Given the description of an element on the screen output the (x, y) to click on. 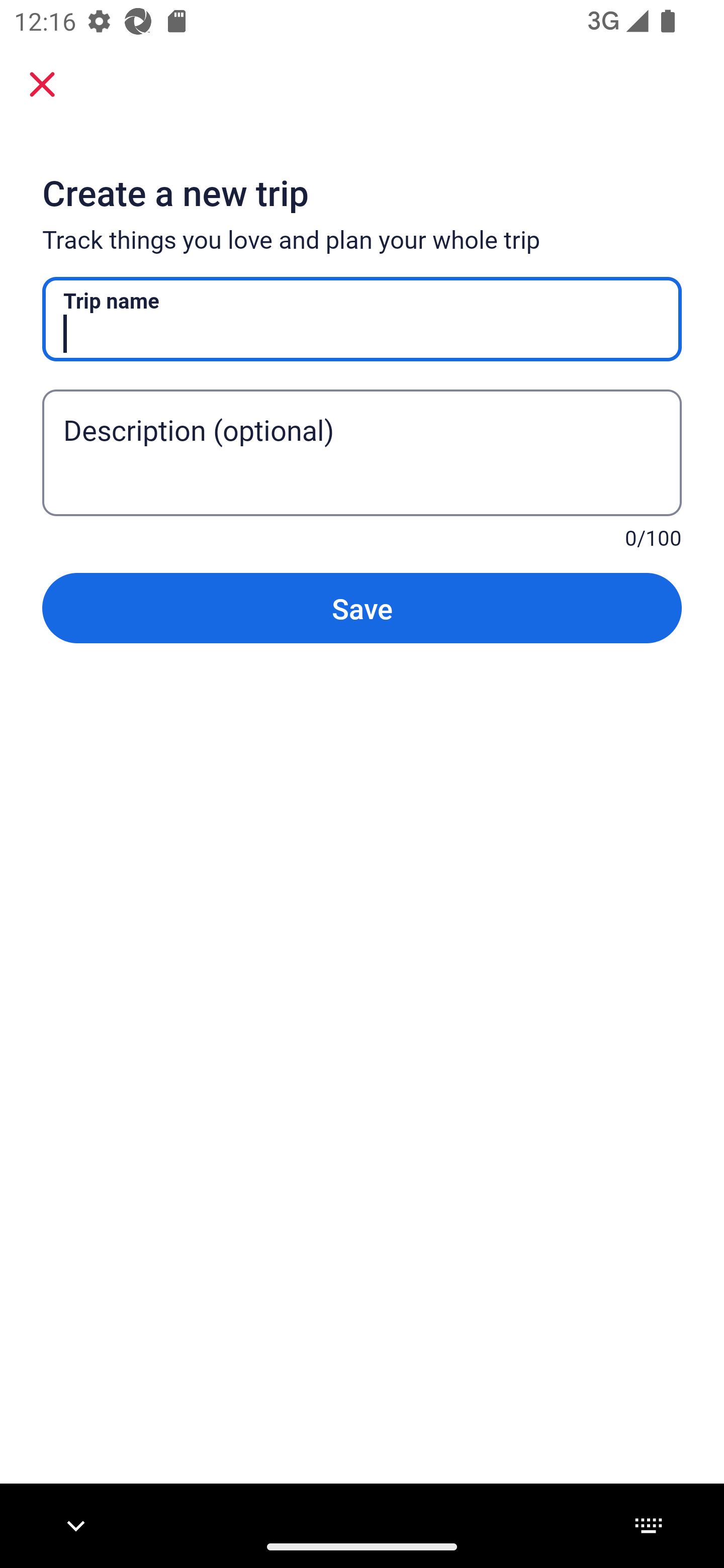
Close (42, 84)
Trip name (361, 318)
Save Button Save (361, 607)
